Given the description of an element on the screen output the (x, y) to click on. 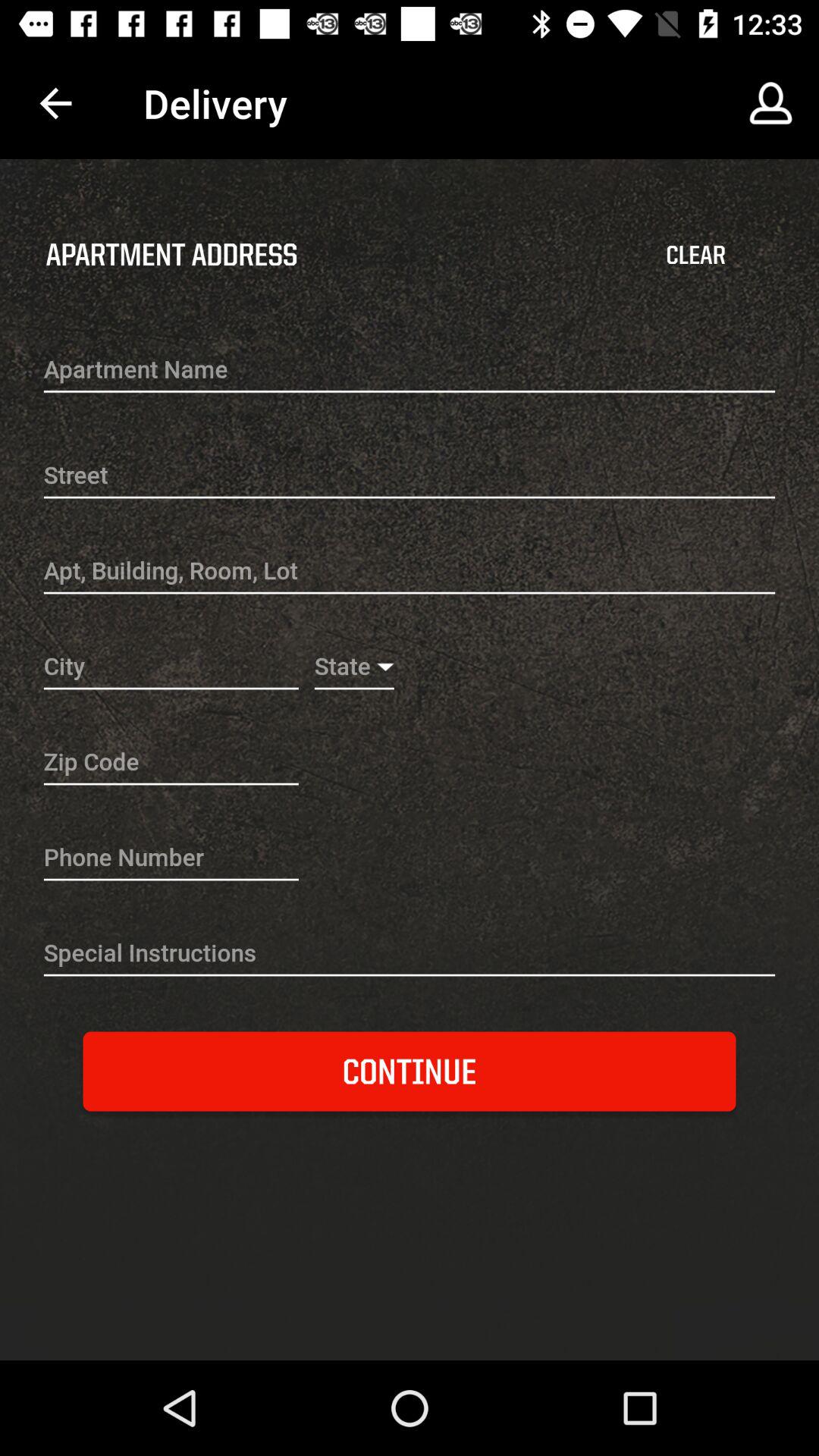
select icon to the right of the delivery (771, 103)
